Given the description of an element on the screen output the (x, y) to click on. 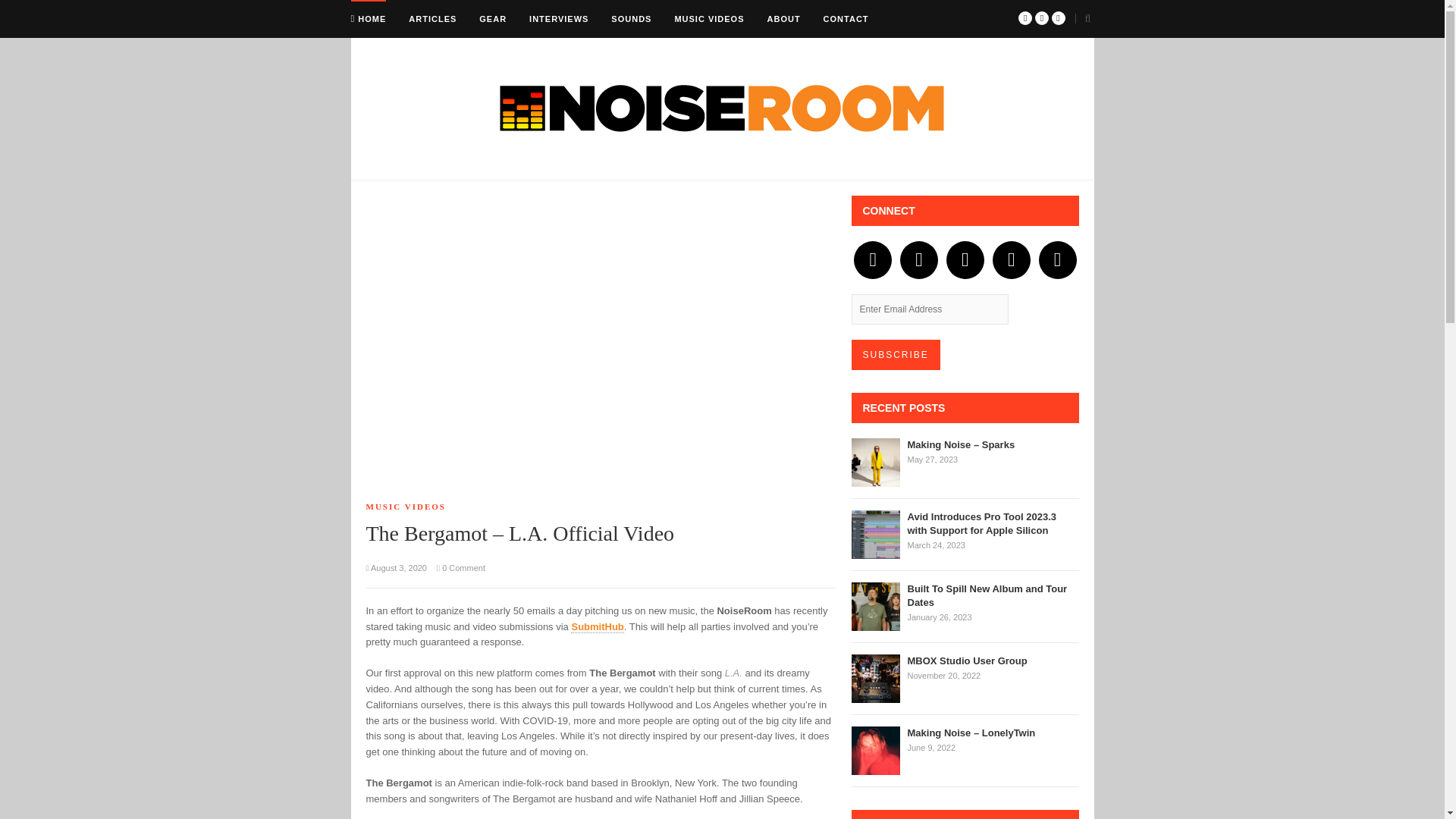
INTERVIEWS (558, 18)
SOUNDS (630, 18)
MUSIC VIDEOS (709, 18)
SubmitHub (596, 626)
CONTACT (846, 18)
MUSIC VIDEOS (405, 506)
ARTICLES (433, 18)
HOME (367, 18)
Subscribe (894, 354)
0 Comment (460, 567)
